Given the description of an element on the screen output the (x, y) to click on. 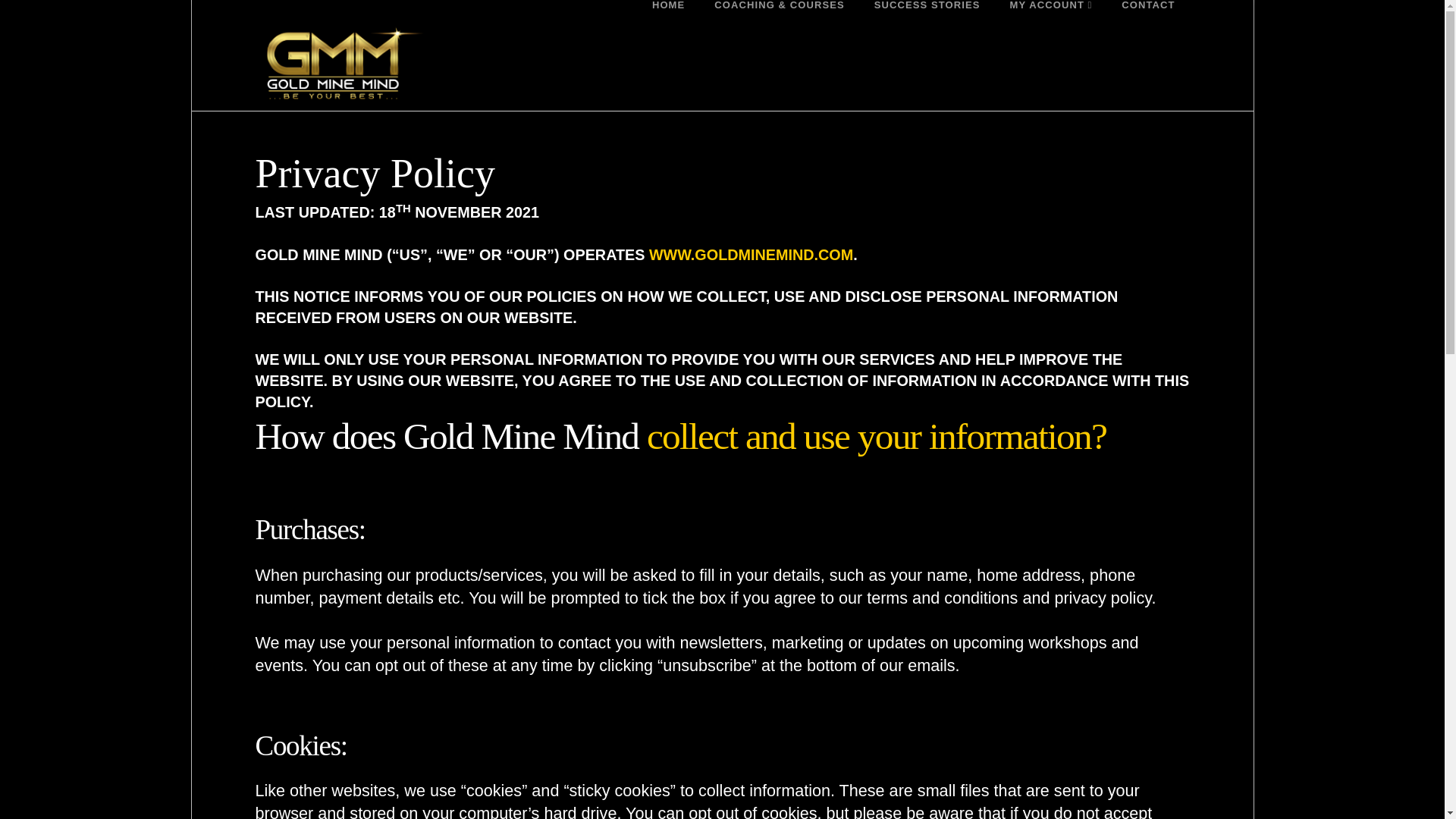
WWW.GOLDMINEMIND.COM (751, 254)
CONTACT (1147, 33)
SUCCESS STORIES (926, 33)
MY ACCOUNT (1050, 33)
HOME (667, 33)
